Given the description of an element on the screen output the (x, y) to click on. 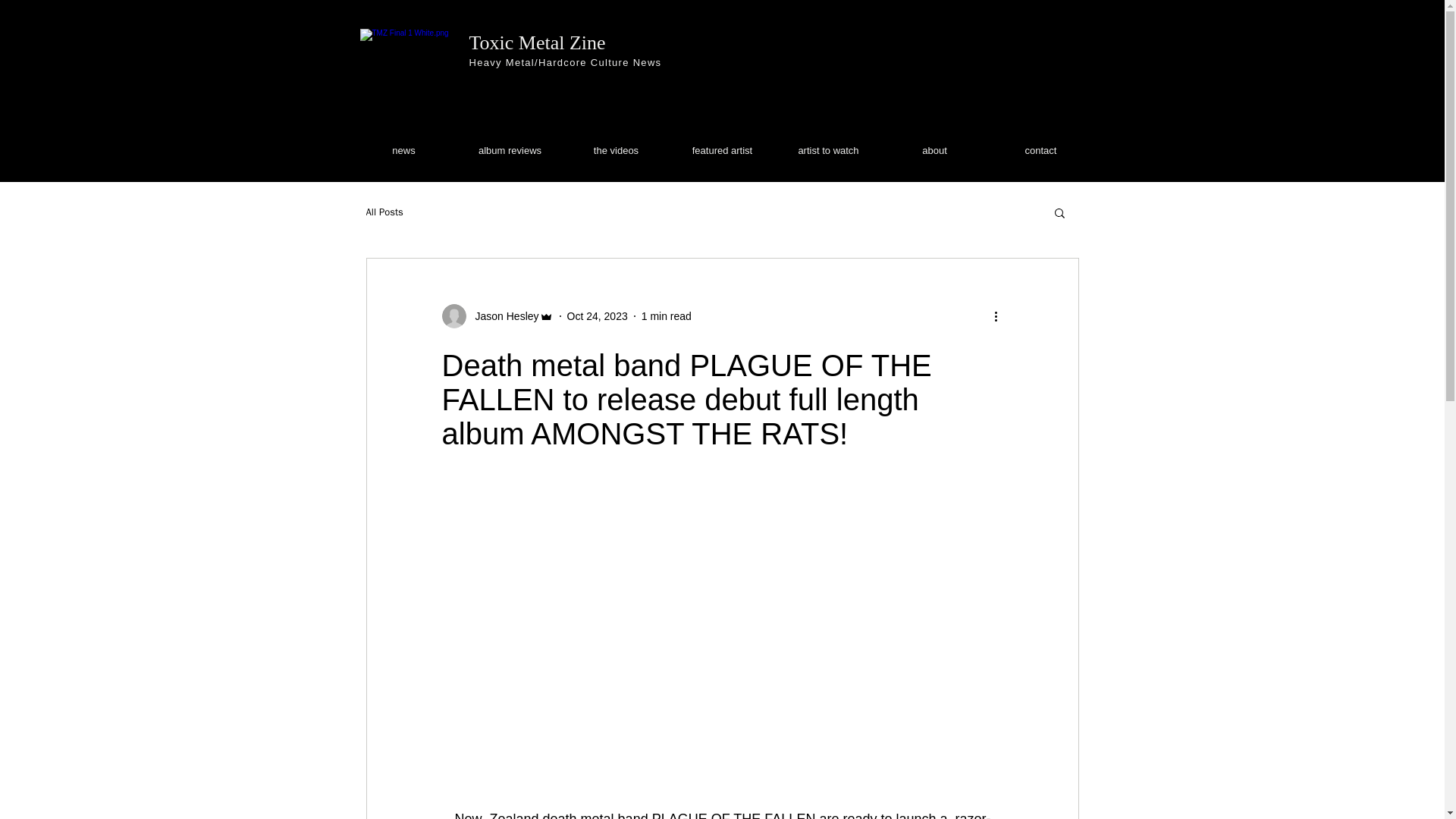
All Posts (384, 212)
featured artist (721, 150)
artist to watch (827, 150)
Oct 24, 2023 (597, 315)
1 min read (666, 315)
contact (1040, 150)
Jason Hesley (501, 315)
news (403, 150)
Toxic Metal Zine (536, 42)
about (933, 150)
the videos (615, 150)
album reviews (509, 150)
